Given the description of an element on the screen output the (x, y) to click on. 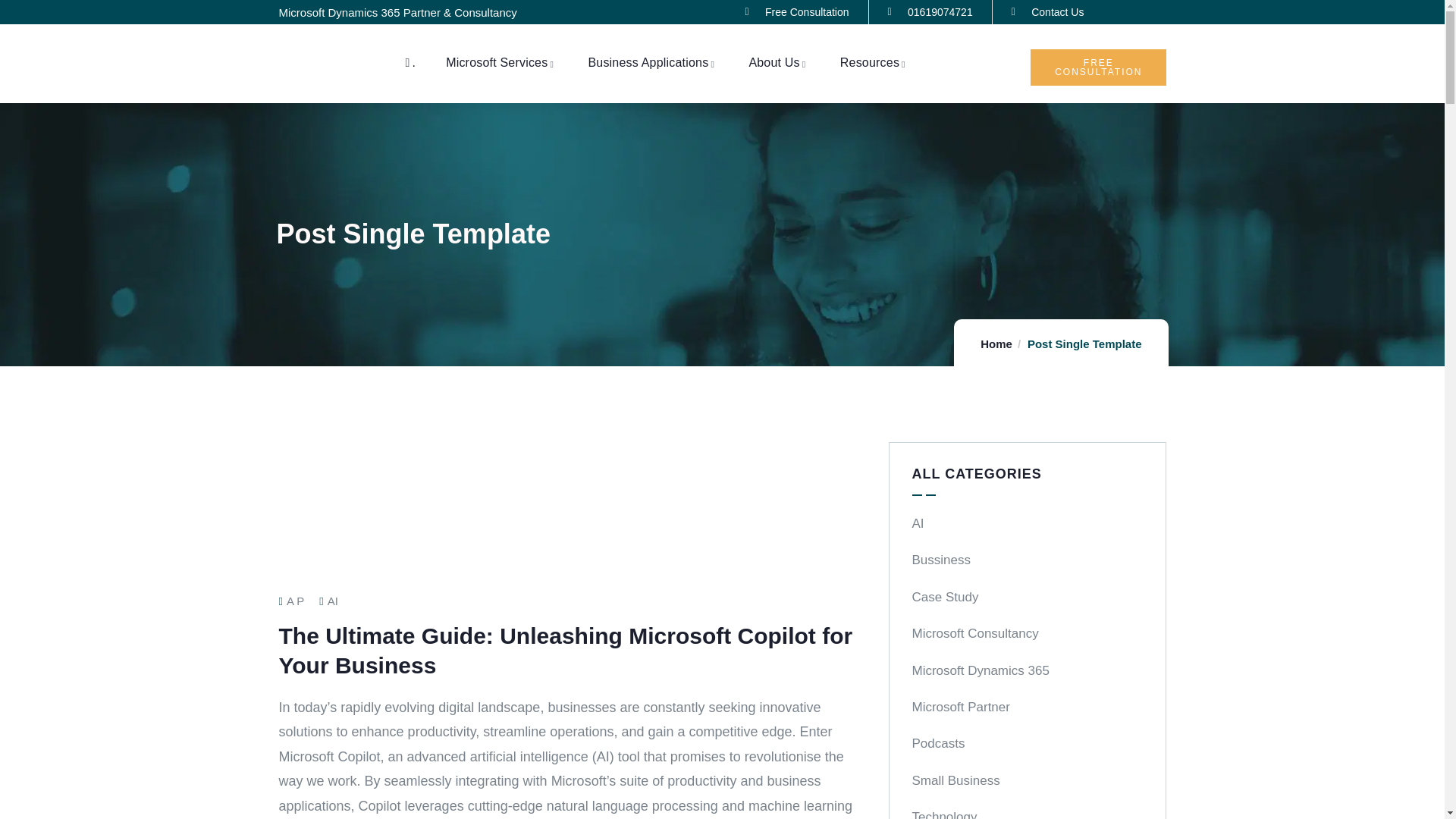
Microsoft Services (501, 62)
Business Applications (652, 62)
01619074721 (930, 12)
Free Consultation (796, 12)
Contact Us (1047, 12)
